Given the description of an element on the screen output the (x, y) to click on. 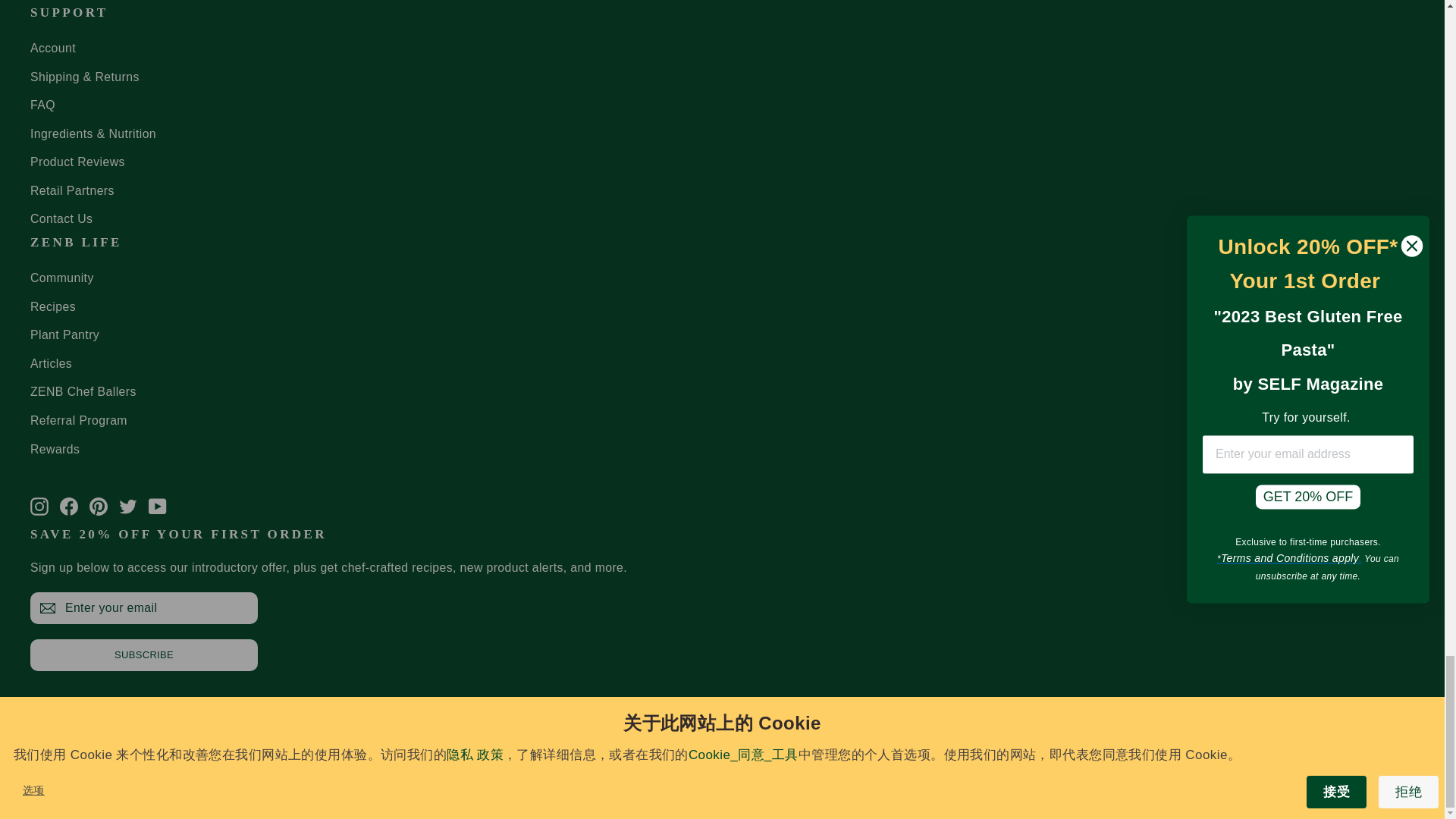
ZENB US on Twitter (127, 505)
